Given the description of an element on the screen output the (x, y) to click on. 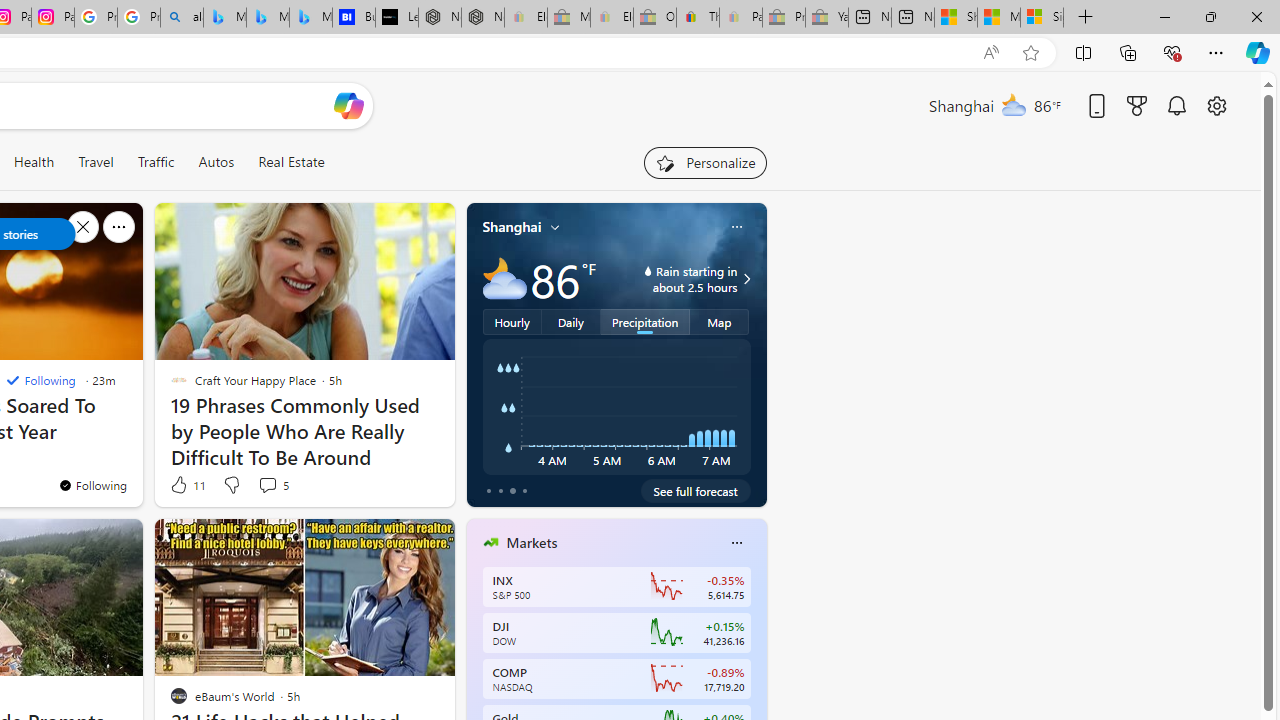
Following (40, 380)
Threats and offensive language policy | eBay (698, 17)
Read aloud this page (Ctrl+Shift+U) (991, 53)
You're following The Weather Channel (92, 485)
Microsoft Bing Travel - Shangri-La Hotel Bangkok (310, 17)
Precipitation (645, 321)
New Tab (1085, 17)
Minimize (1164, 16)
See more (429, 542)
Mostly cloudy (504, 278)
Hourly (511, 321)
Class: weather-arrow-glyph (746, 278)
